Given the description of an element on the screen output the (x, y) to click on. 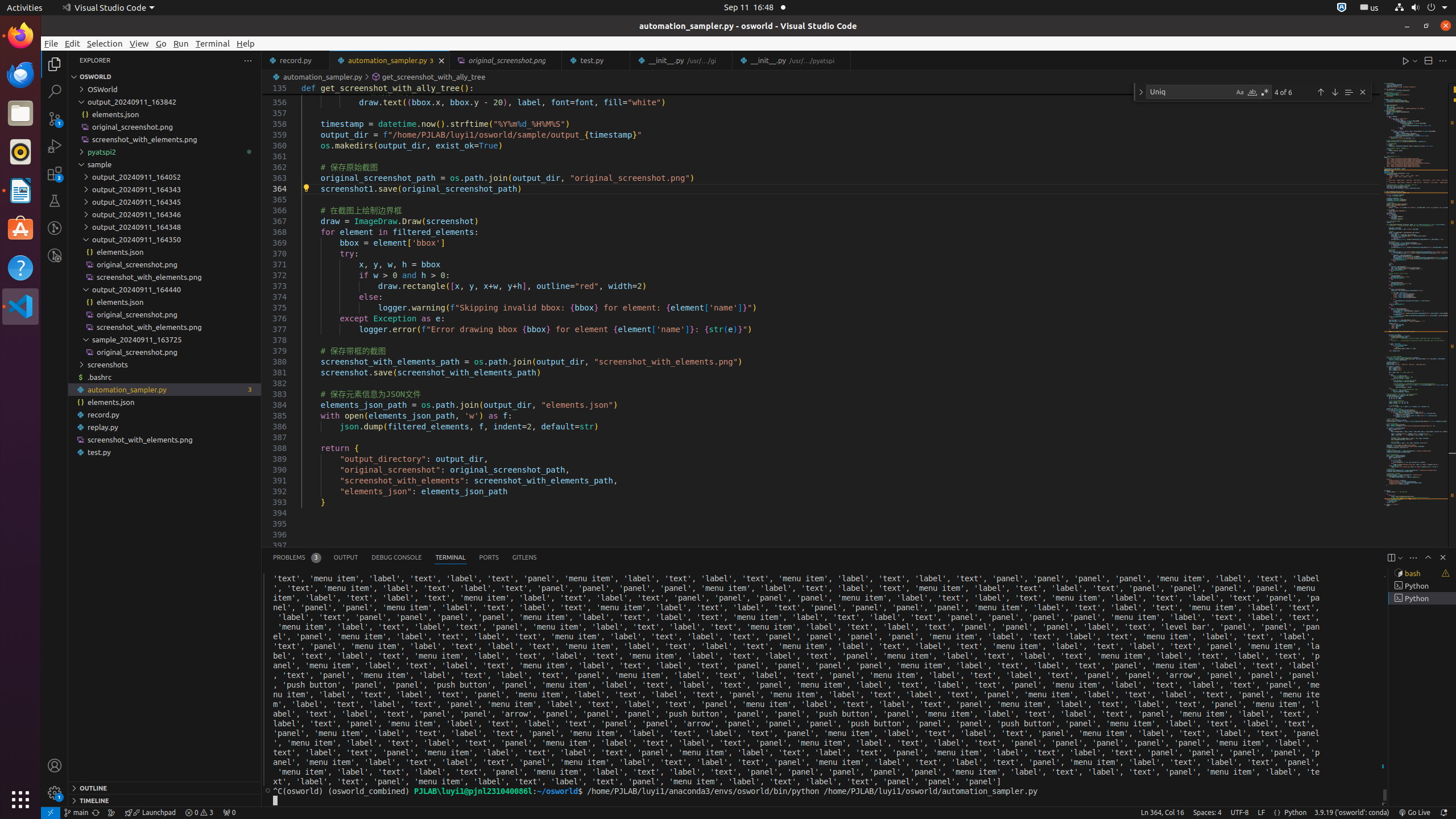
:1.21/StatusNotifierItem Element type: menu (1369, 7)
OSWorld Element type: tree-item (164, 89)
Selection Element type: push-button (104, 43)
Firefox Web Browser Element type: push-button (20, 35)
